Given the description of an element on the screen output the (x, y) to click on. 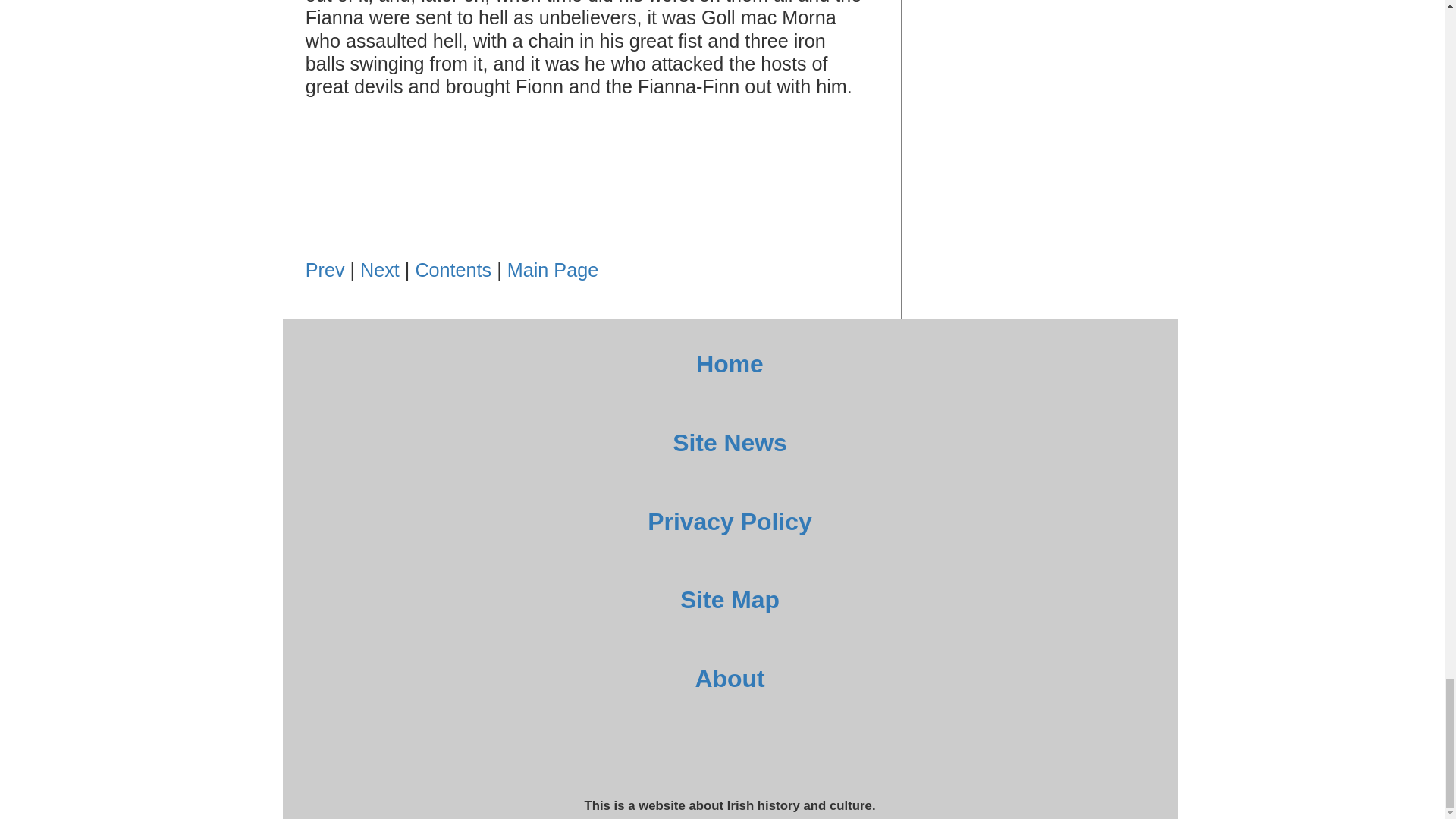
About (729, 678)
Contents (453, 269)
Next (378, 269)
Site Map (728, 599)
Privacy Policy (728, 521)
Home (728, 363)
Prev (325, 269)
Main Page (552, 269)
Site News (729, 442)
